Given the description of an element on the screen output the (x, y) to click on. 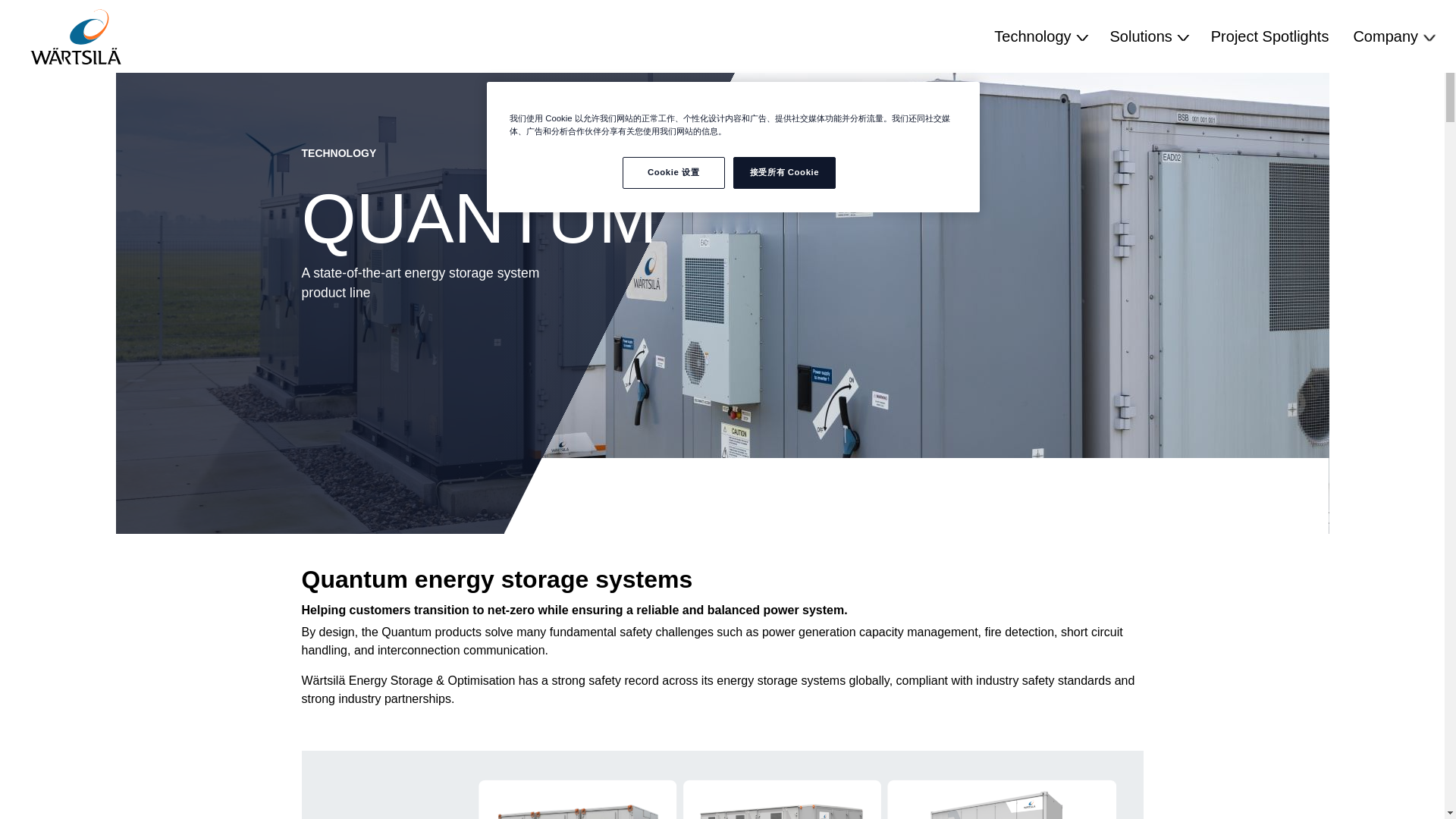
Project Spotlights (1270, 36)
Company (1392, 36)
Solutions (1147, 36)
Technology (1039, 36)
